Given the description of an element on the screen output the (x, y) to click on. 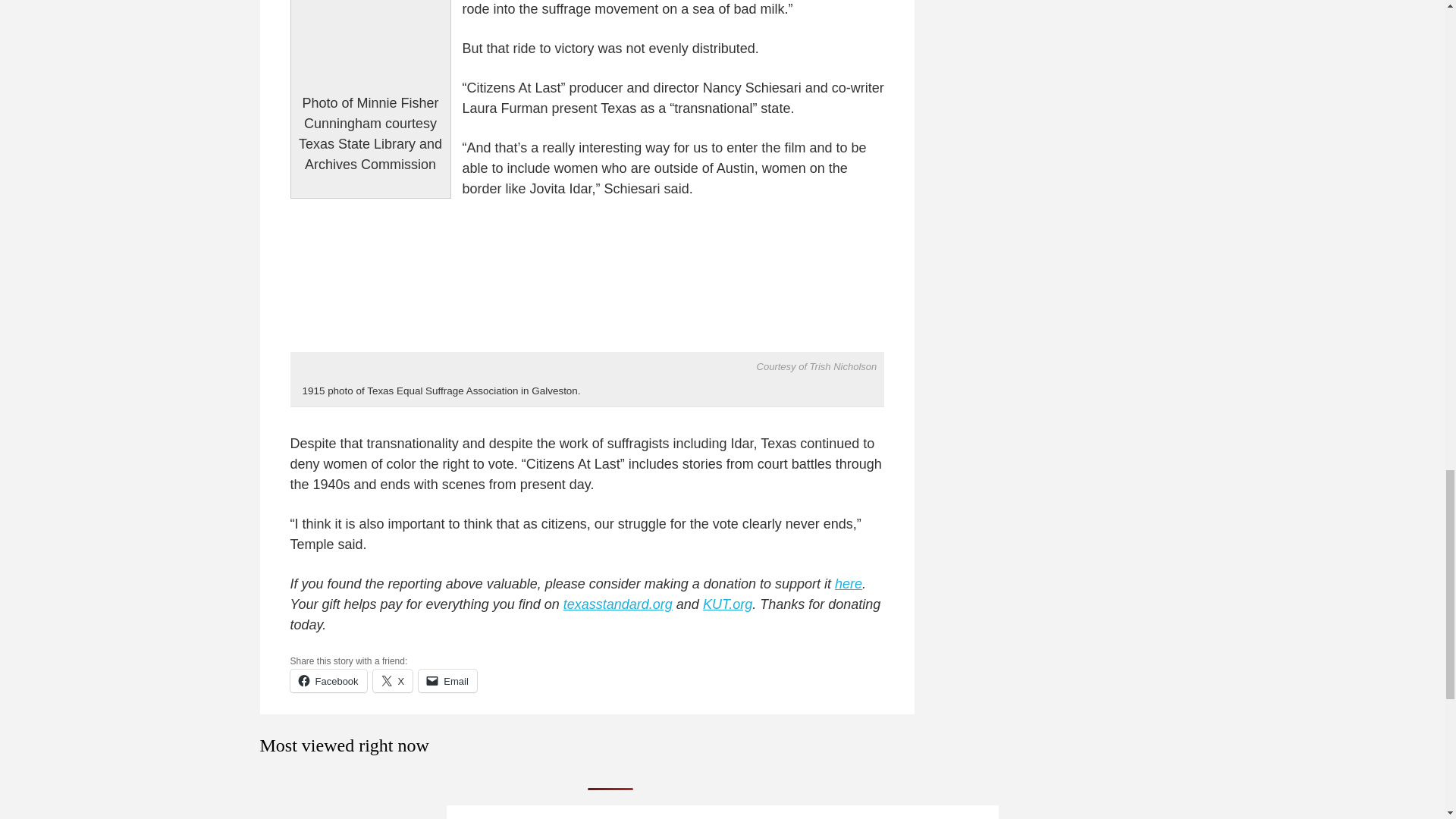
Click to share on Facebook (327, 680)
Click to share on X (392, 680)
Click to email a link to a friend (448, 680)
